Given the description of an element on the screen output the (x, y) to click on. 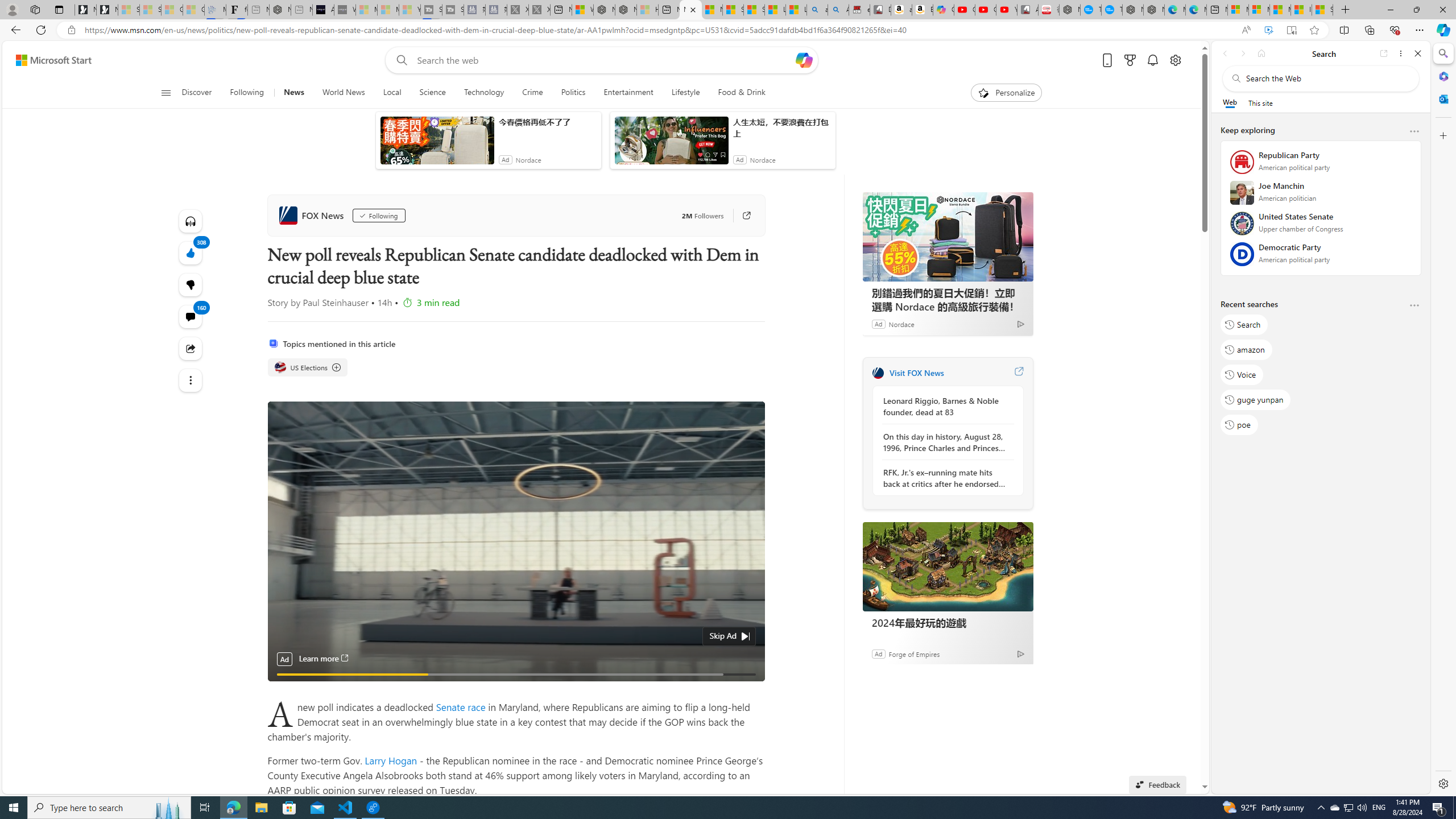
United States Senate Upper chamber of Congress (1321, 226)
Newsletter Sign Up (106, 9)
Settings (1442, 783)
YouTube Kids - An App Created for Kids to Explore Content (1006, 9)
Crime (531, 92)
Leonard Riggio, Barnes & Noble founder, dead at 83 (944, 406)
To get missing image descriptions, open the context menu. (983, 92)
Science (432, 92)
Crime (532, 92)
Microsoft 365 (1442, 76)
This site scope (1259, 102)
Skip to content (49, 59)
